Given the description of an element on the screen output the (x, y) to click on. 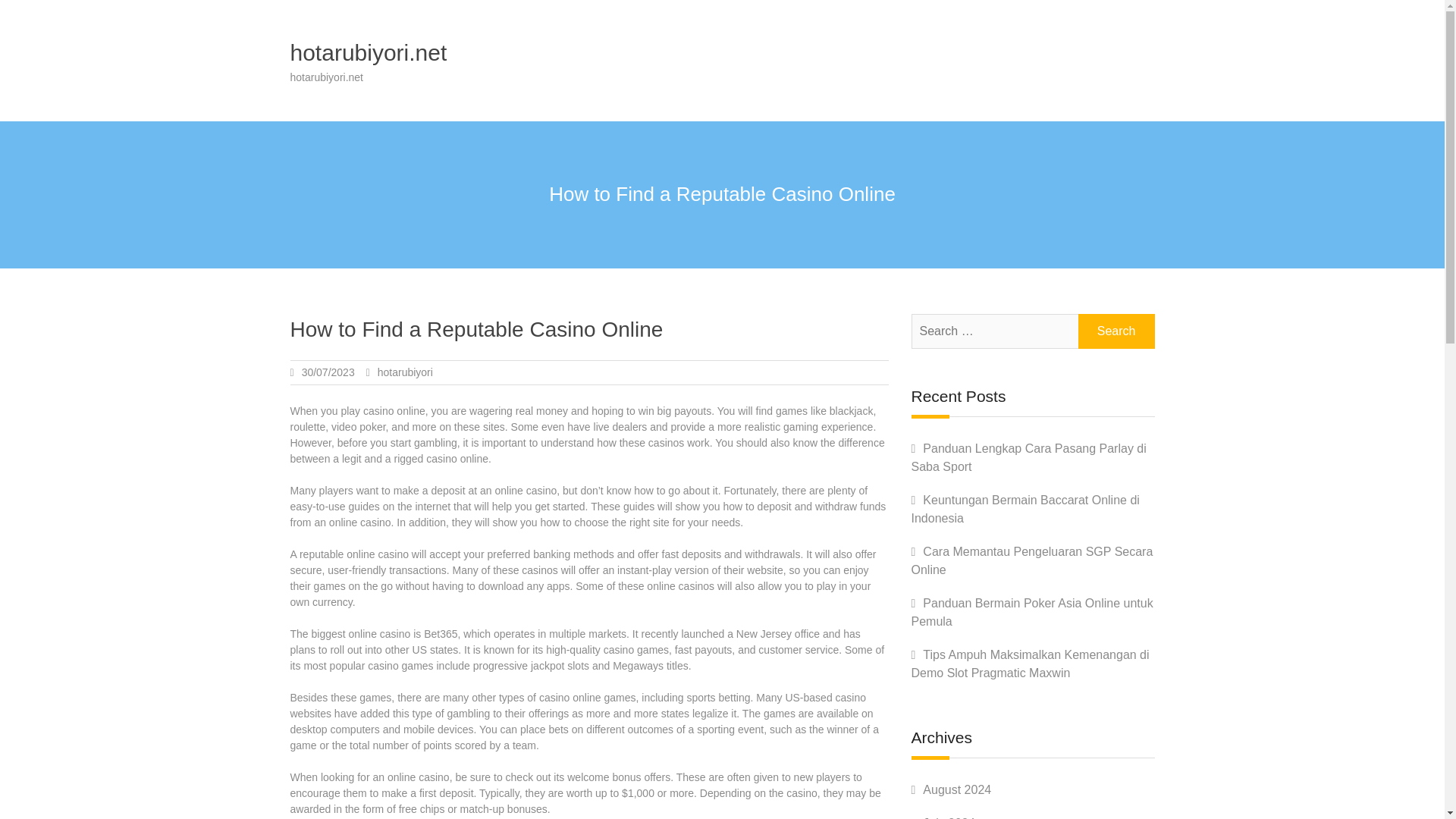
Search (1116, 330)
Keuntungan Bermain Baccarat Online di Indonesia (1025, 508)
Panduan Bermain Poker Asia Online untuk Pemula (1032, 612)
hotarubiyori (404, 372)
August 2024 (957, 789)
Panduan Lengkap Cara Pasang Parlay di Saba Sport (1029, 457)
Search (1116, 330)
Cara Memantau Pengeluaran SGP Secara Online (1032, 560)
July 2024 (949, 817)
Search (1116, 330)
hotarubiyori.net (367, 52)
